Given the description of an element on the screen output the (x, y) to click on. 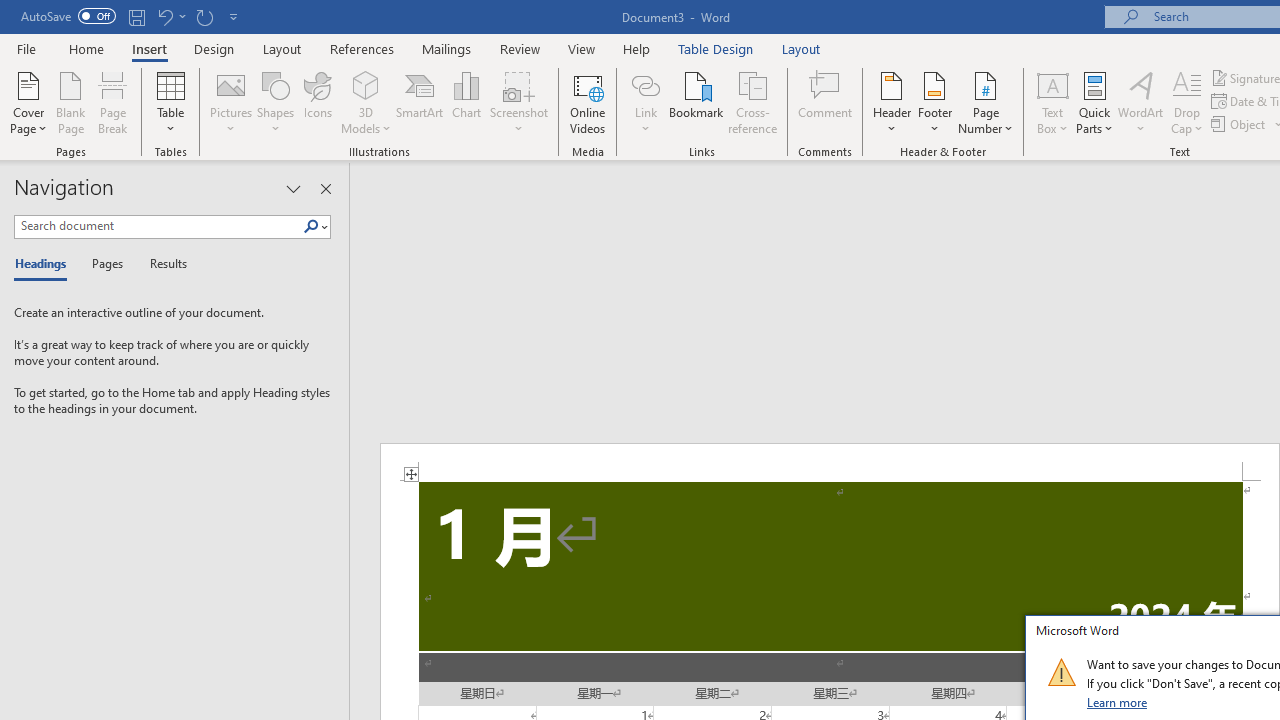
Link (645, 102)
Text Box (1052, 102)
Chart... (466, 102)
Icons (317, 102)
Bookmark... (695, 102)
Quick Parts (1094, 102)
Shapes (275, 102)
Page Number (986, 102)
Cover Page (28, 102)
